Given the description of an element on the screen output the (x, y) to click on. 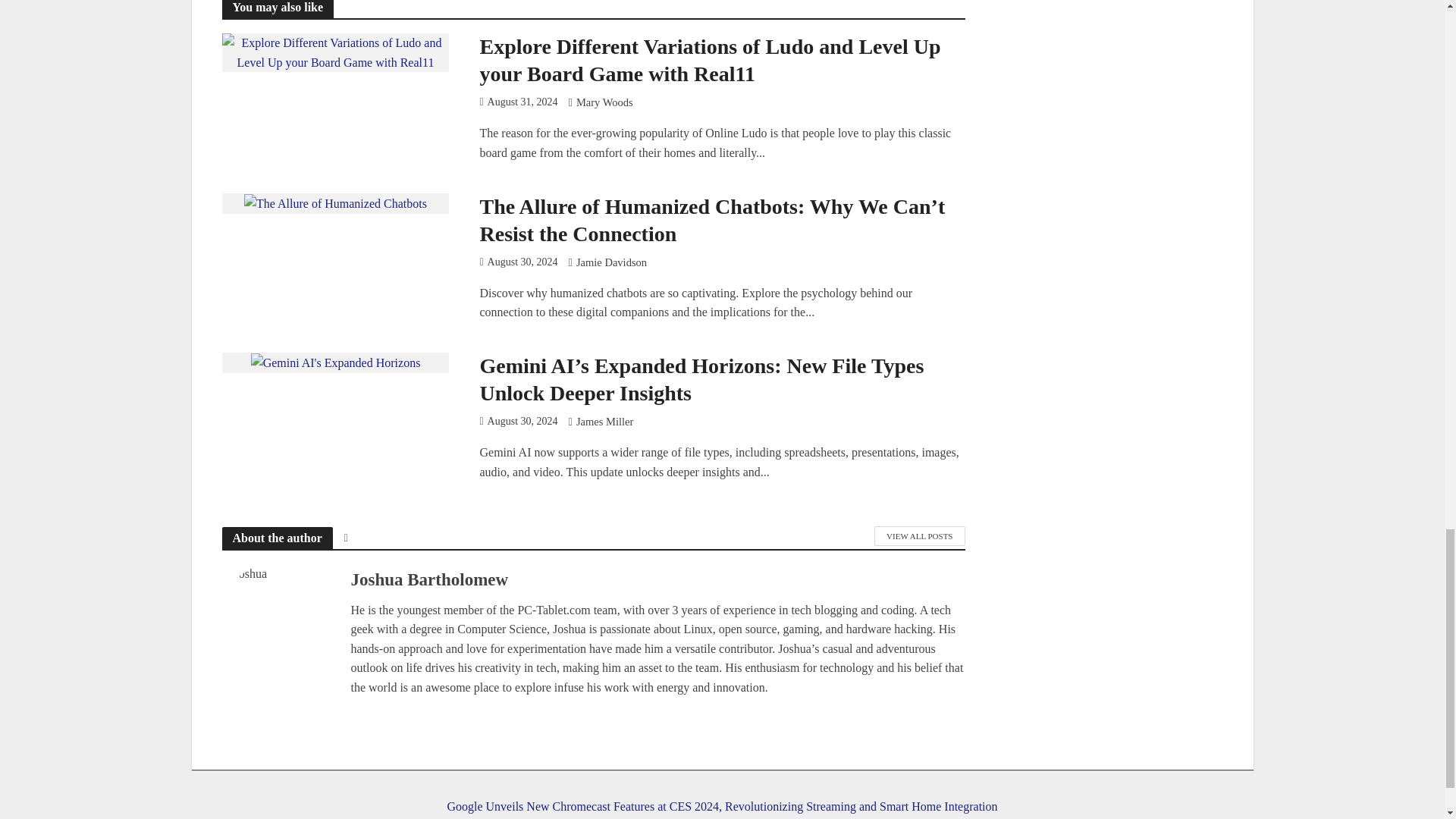
James Miller (604, 422)
VIEW ALL POSTS (919, 536)
Jamie Davidson (611, 263)
Mary Woods (604, 103)
